Given the description of an element on the screen output the (x, y) to click on. 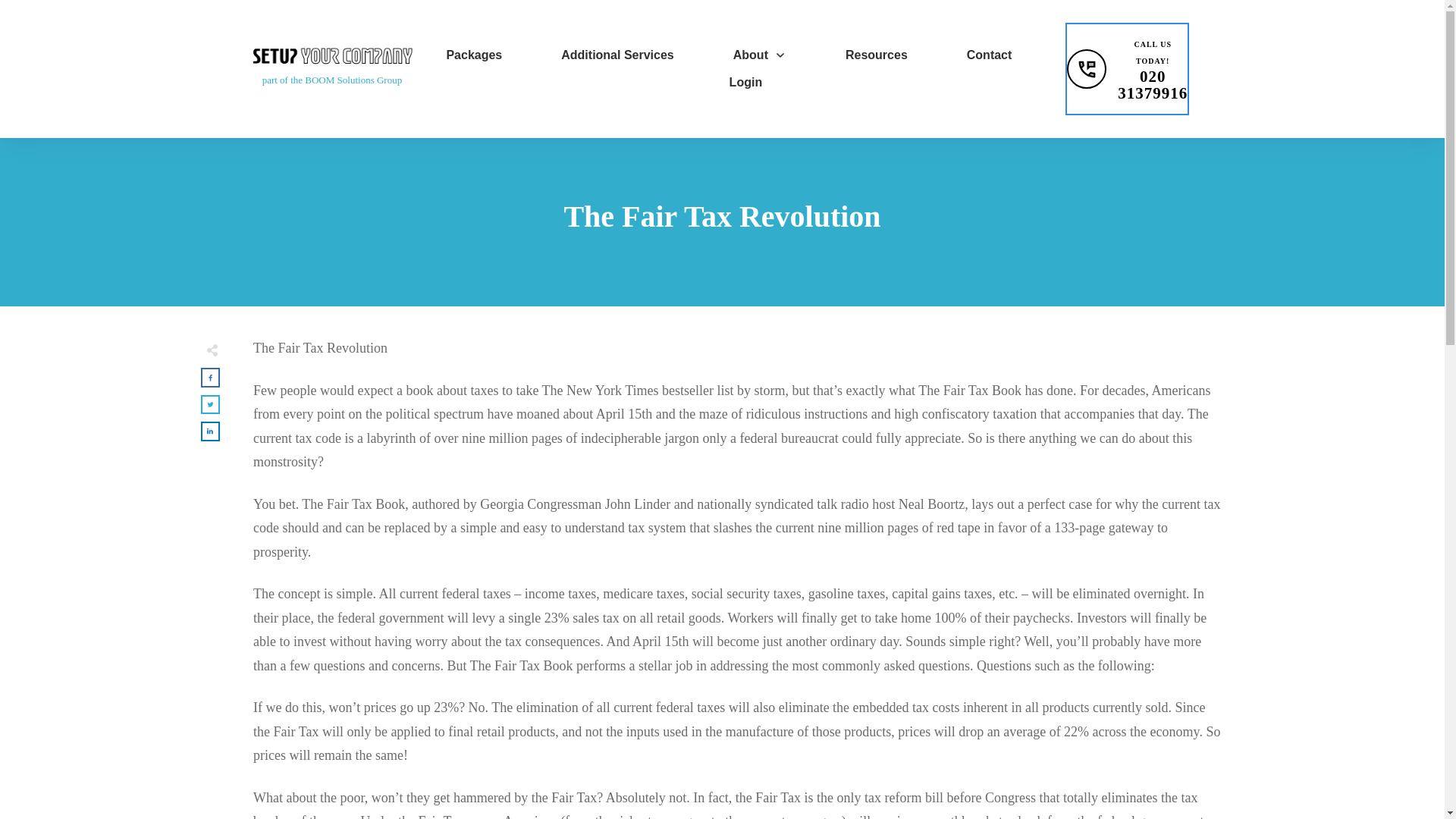
Additional Services (617, 55)
About (759, 55)
Resources (876, 55)
The Fair Tax Revolution (721, 216)
The Fair Tax Revolution (721, 216)
Packages (473, 55)
Contact (988, 55)
Login (1127, 68)
part of the BOOM Solutions Group (745, 82)
